Given the description of an element on the screen output the (x, y) to click on. 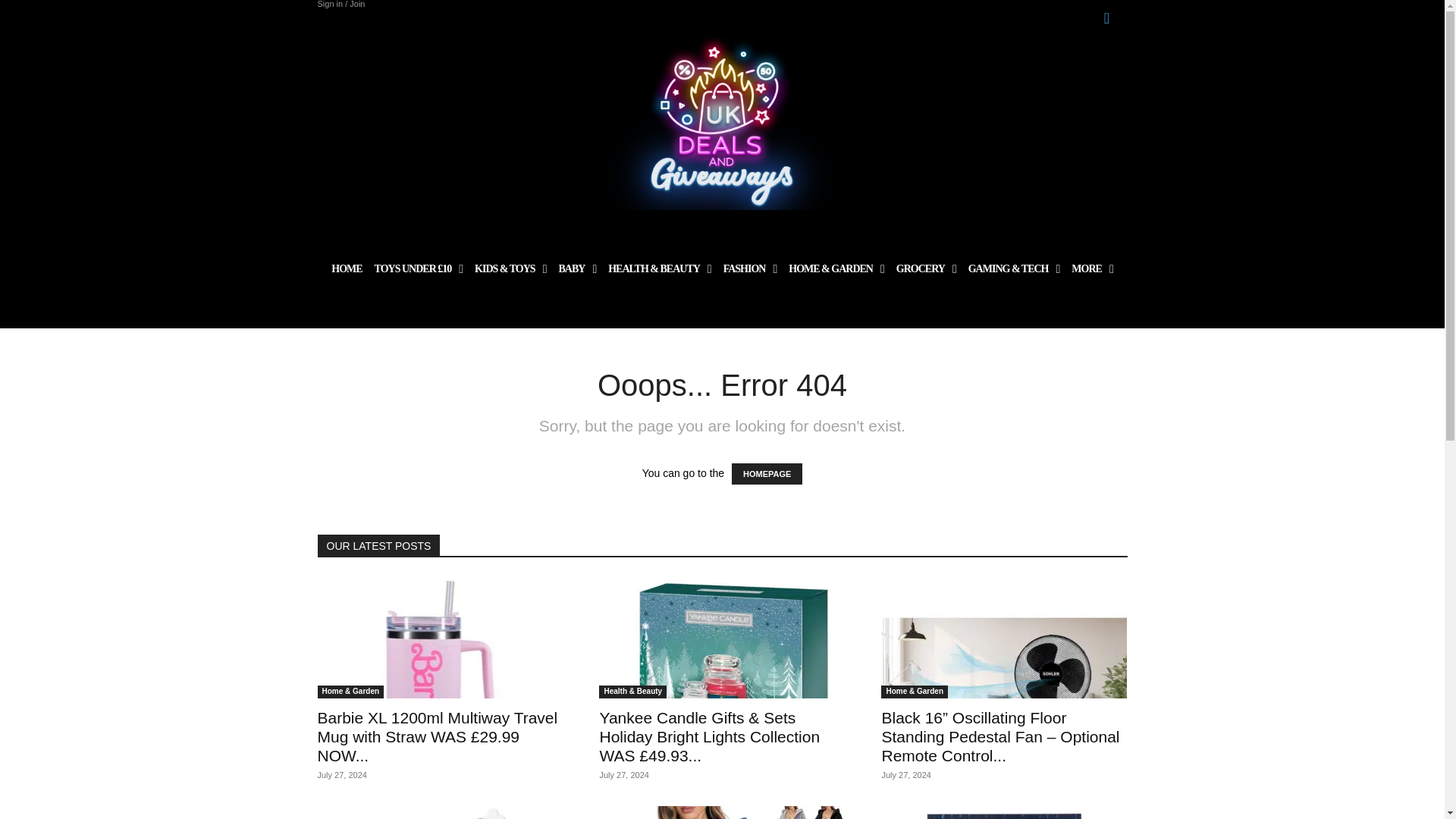
HOME (346, 268)
